Given the description of an element on the screen output the (x, y) to click on. 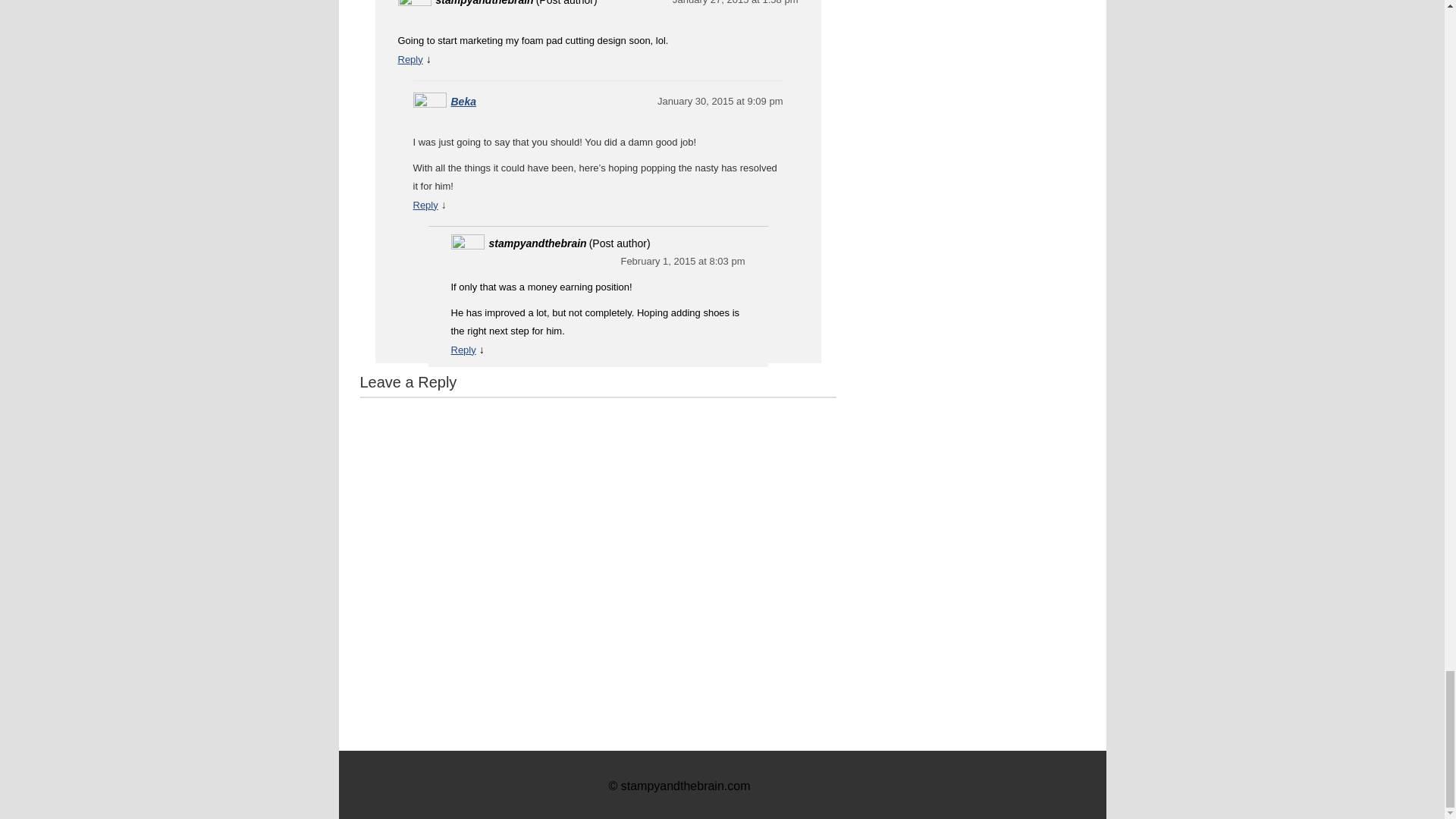
Reply (425, 204)
Reply (409, 59)
Beka (462, 101)
